Given the description of an element on the screen output the (x, y) to click on. 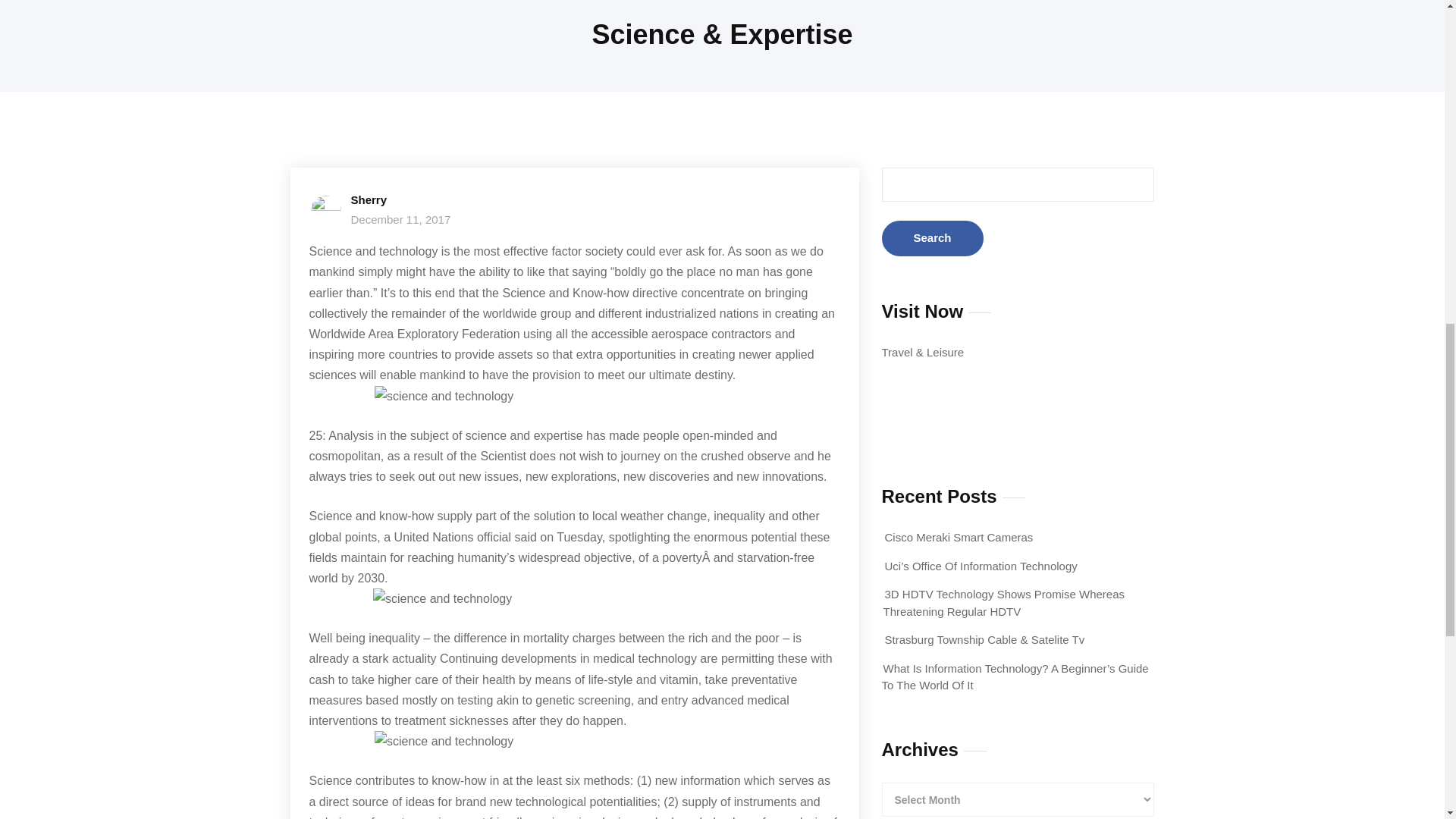
December 11, 2017 (399, 219)
Search (931, 238)
Search (931, 238)
Sherry (368, 199)
